Given the description of an element on the screen output the (x, y) to click on. 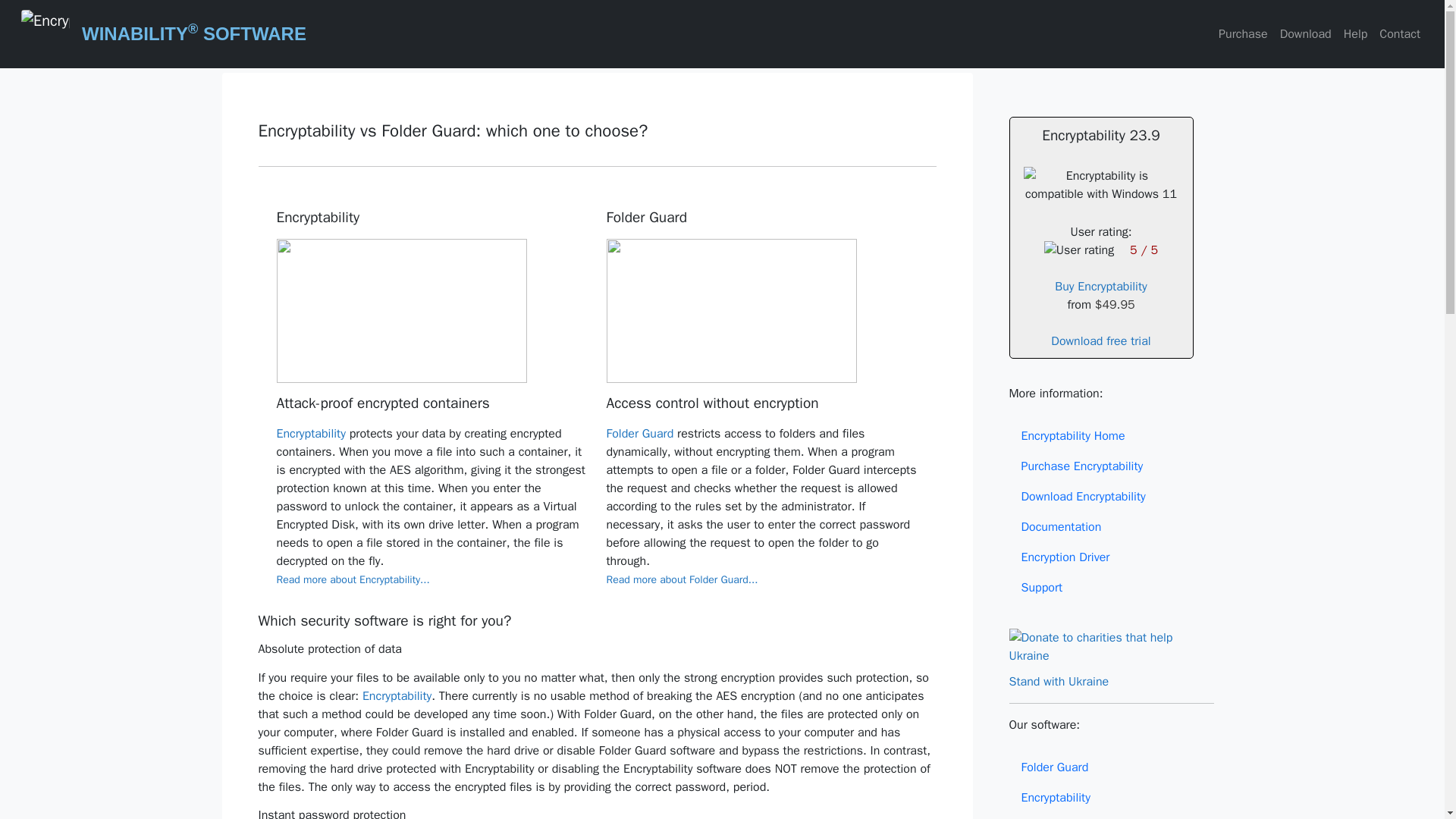
Password-protection software Folder Guard (1110, 767)
Folder Guard (640, 433)
Read more about Encryptability... (352, 579)
Read more about Folder Guard... (682, 579)
Encryptability (396, 695)
Purchase (1243, 33)
Drive encryption software USBCrypt (1110, 816)
Download (1306, 33)
Encryptability (310, 433)
